Given the description of an element on the screen output the (x, y) to click on. 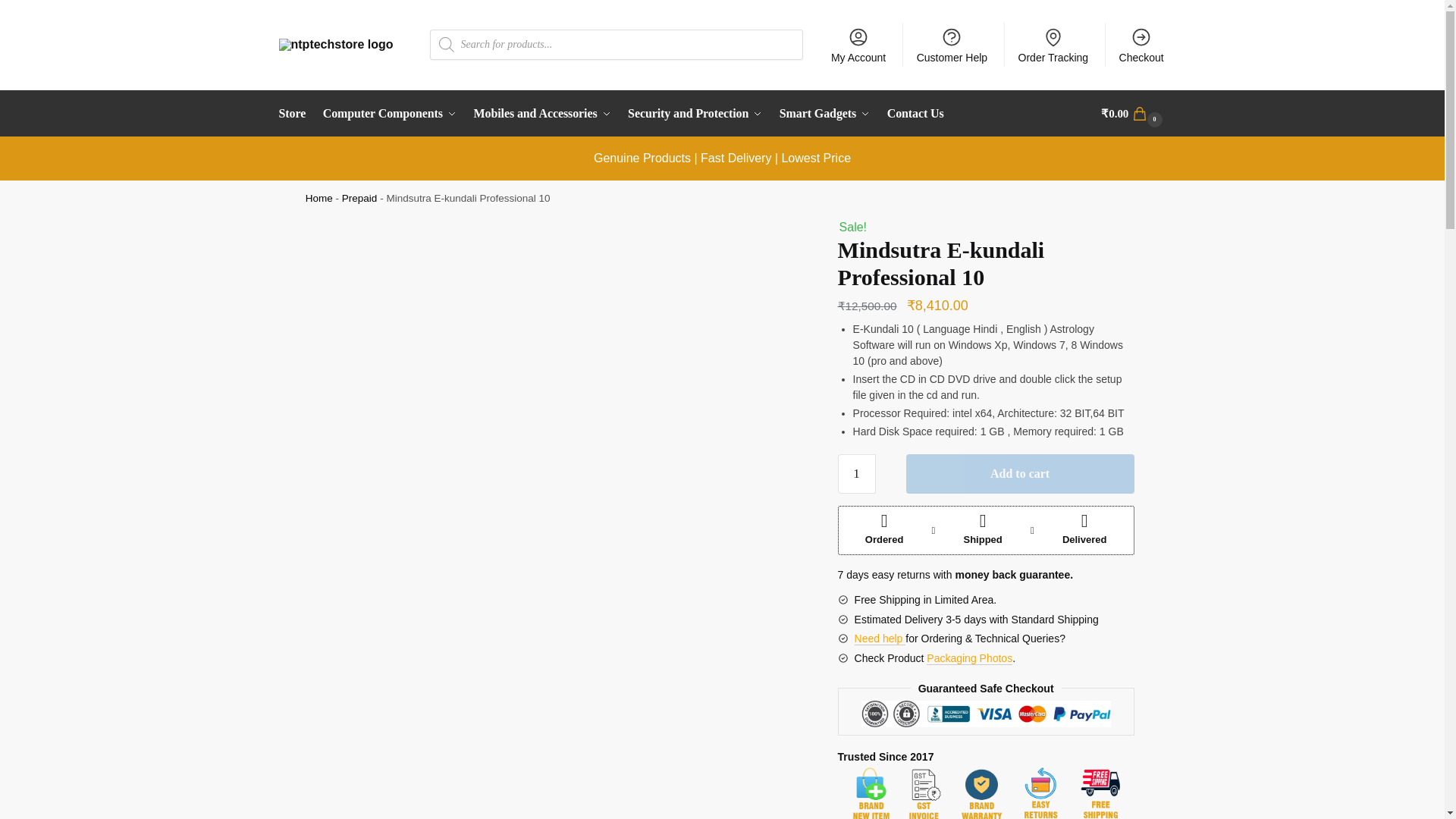
Order Tracking (1053, 44)
Checkout (1141, 44)
My Account (858, 44)
1 (857, 473)
Customer Help (951, 44)
Computer Components (389, 113)
View your shopping cart (1133, 113)
